Given the description of an element on the screen output the (x, y) to click on. 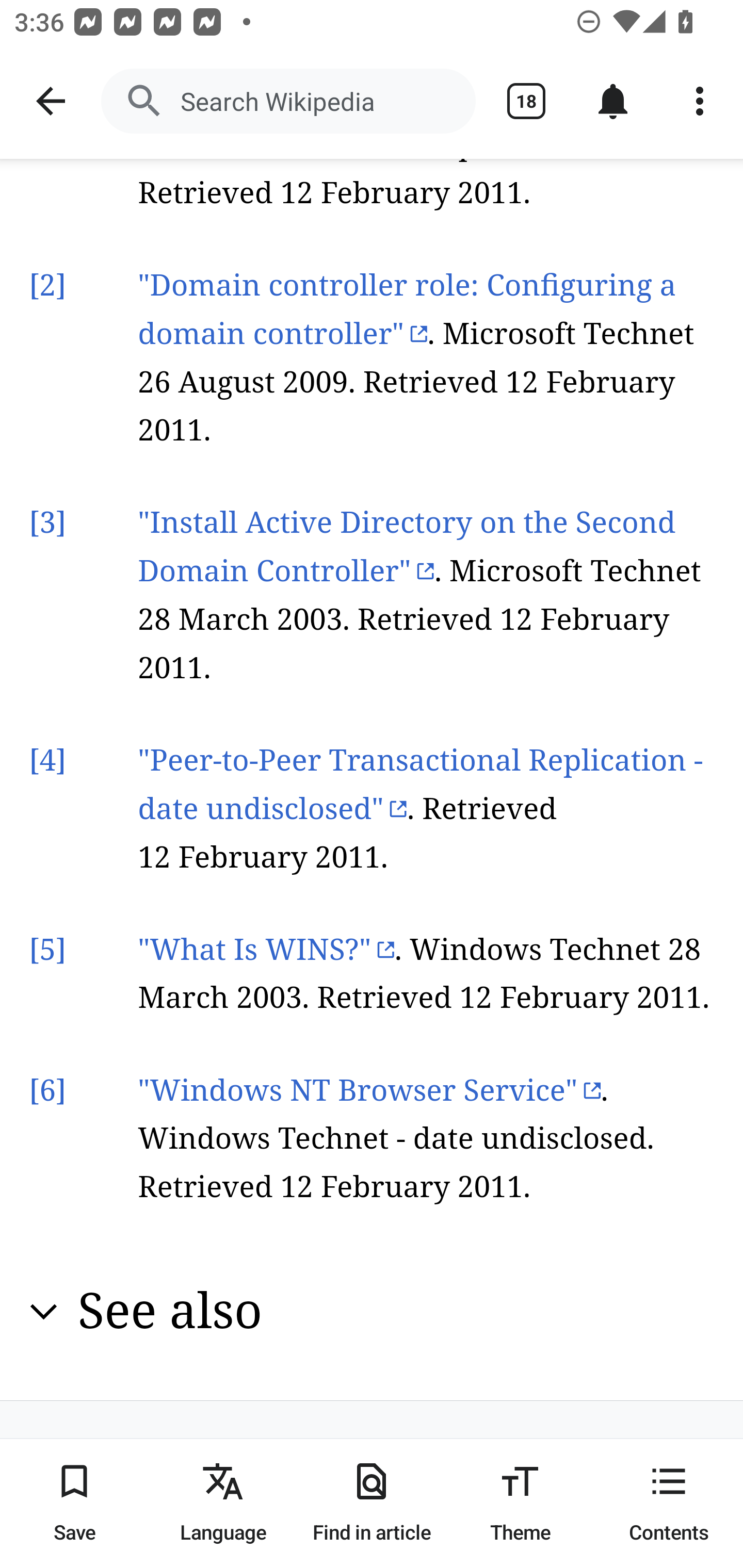
Show tabs 18 (525, 100)
Notifications (612, 100)
More options (699, 101)
Search Wikipedia (288, 100)
[1] (47, 97)
[2] (47, 285)
[3] (47, 522)
[4] (47, 760)
[5] (47, 950)
"What Is WINS?" (266, 950)
[6] (47, 1091)
"Windows NT Browser Service" (369, 1091)
Expand section See also (372, 1312)
Expand section (43, 1312)
Save (74, 1502)
Language (222, 1502)
Find in article (371, 1502)
Theme (519, 1502)
Contents (668, 1502)
